Given the description of an element on the screen output the (x, y) to click on. 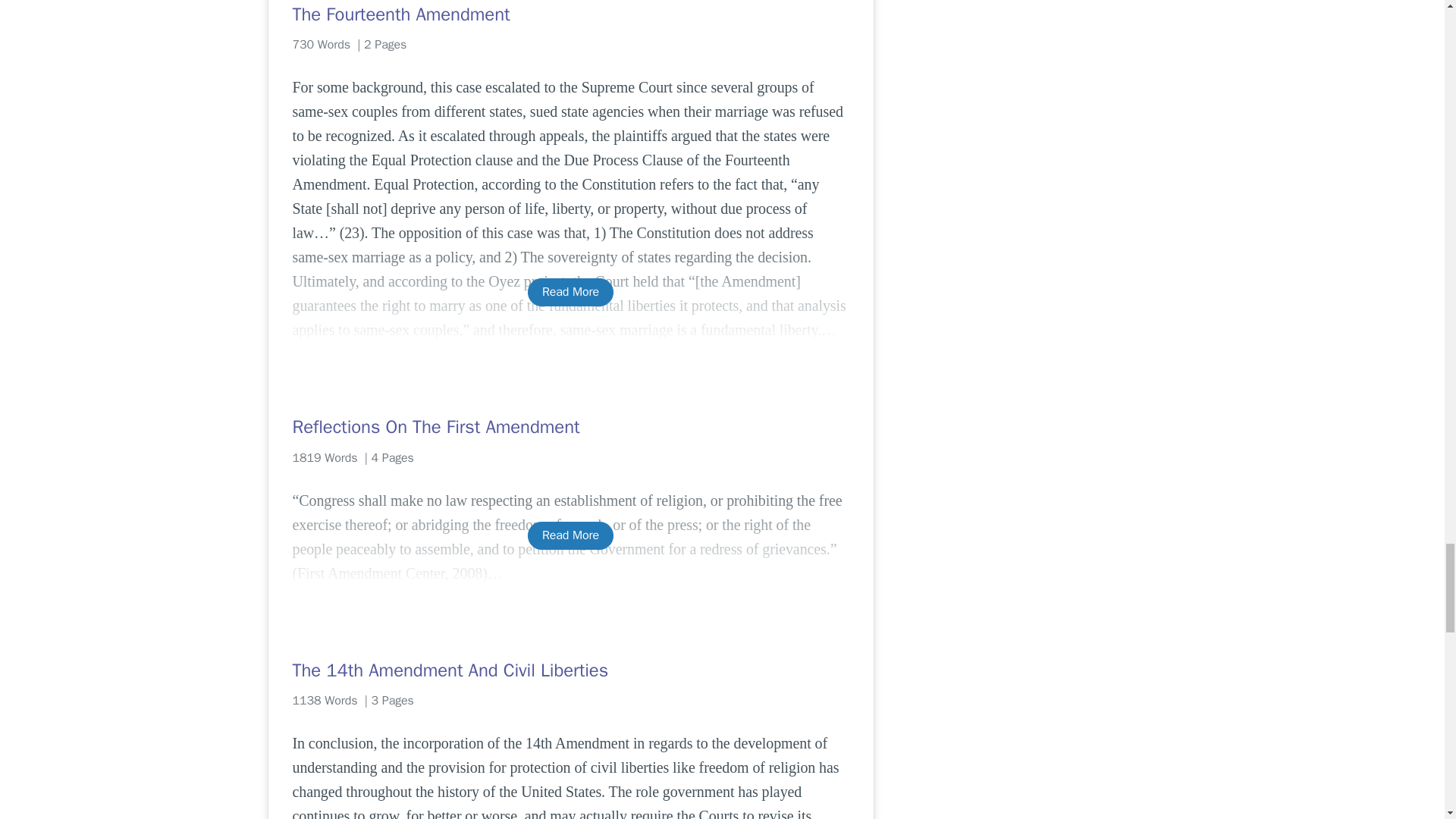
Reflections On The First Amendment (570, 426)
Read More (569, 535)
The 14th Amendment And Civil Liberties (570, 670)
Read More (569, 292)
The Fourteenth Amendment (570, 14)
